Given the description of an element on the screen output the (x, y) to click on. 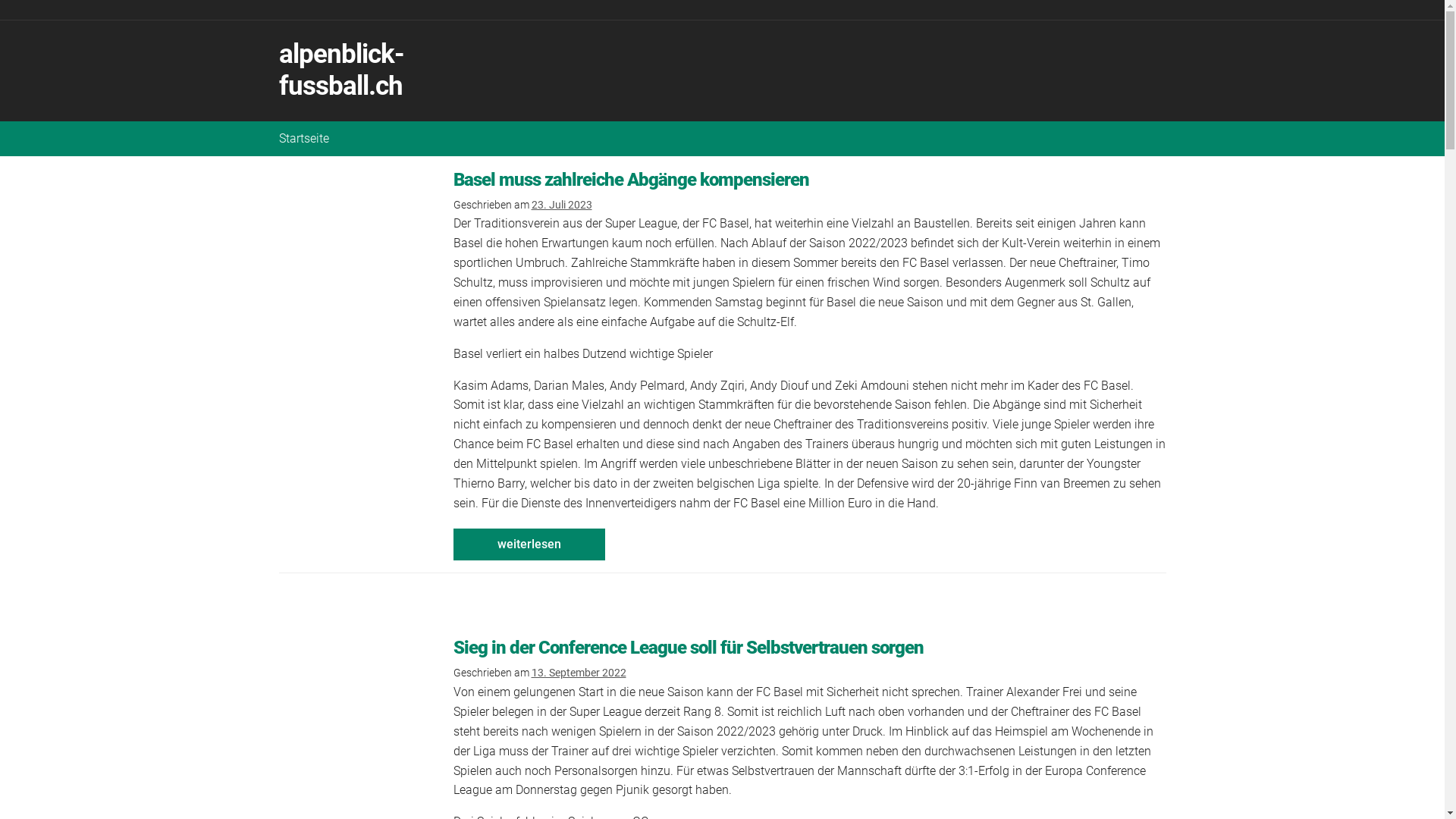
23. Juli 2023 Element type: text (560, 204)
13. September 2022 Element type: text (577, 672)
alpenblick-fussball.ch Element type: text (341, 69)
Startseite Element type: text (303, 138)
